Given the description of an element on the screen output the (x, y) to click on. 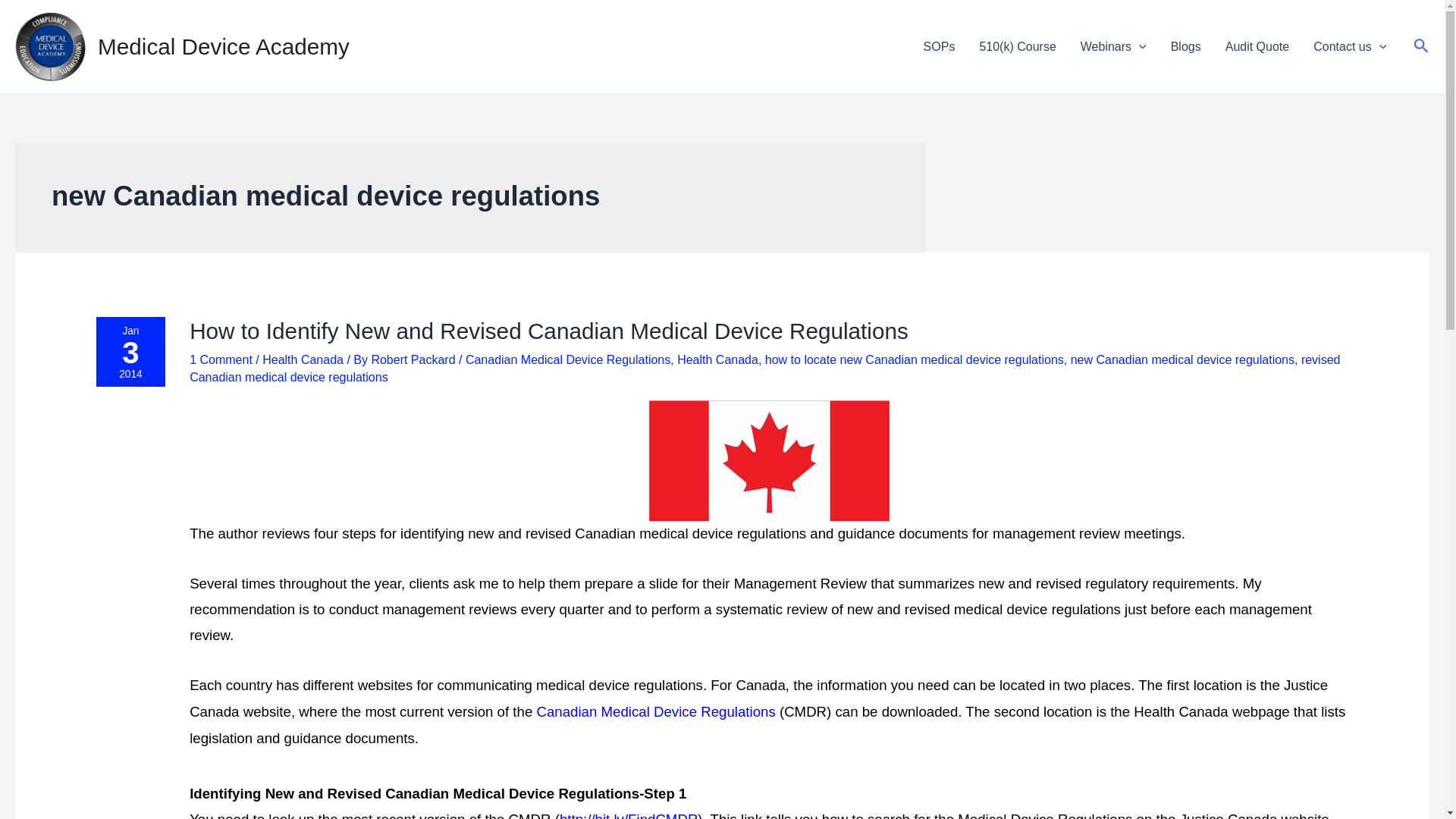
Medical Device Academy (223, 46)
SOPs (939, 46)
1 Comment (130, 360)
Blogs (220, 359)
Audit Quote (1185, 46)
View all posts by Robert Packard (1256, 46)
Search (414, 359)
Webinars (1421, 47)
Health Canada (1113, 46)
Link for directions to download the CMDR (302, 359)
Contact us (628, 815)
